Given the description of an element on the screen output the (x, y) to click on. 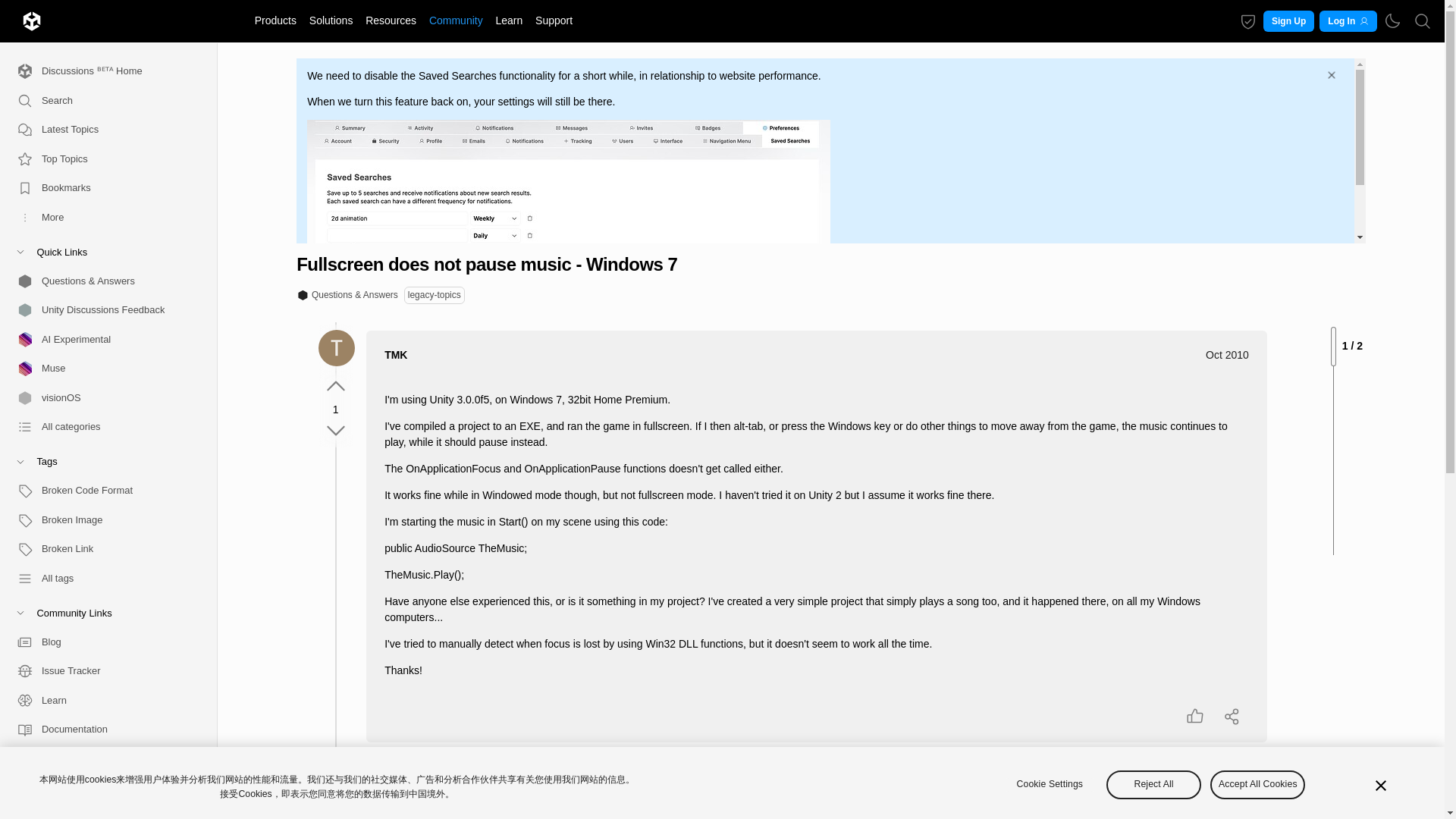
Toggle section (102, 612)
Support (554, 20)
Products (274, 20)
Community Links (102, 612)
Latest Topics (102, 129)
More (102, 216)
Unity Asset Store (102, 758)
All topics (102, 129)
Community (455, 20)
Resources (391, 20)
Toggle section (102, 461)
Learn (102, 699)
Documentation (102, 729)
Keyboard Shortcuts (199, 804)
Toggle section (102, 251)
